Given the description of an element on the screen output the (x, y) to click on. 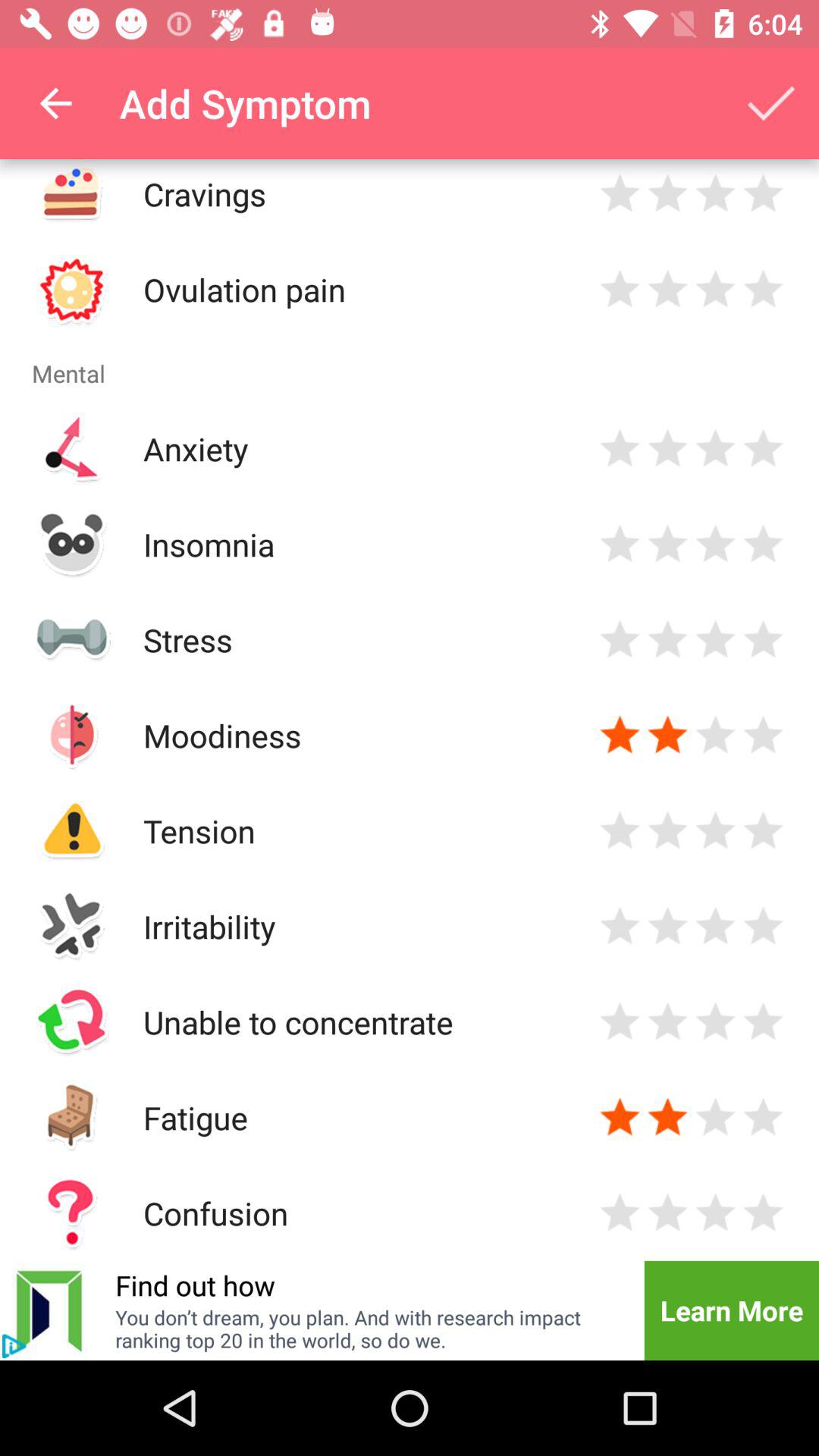
4 star rating (763, 193)
